Given the description of an element on the screen output the (x, y) to click on. 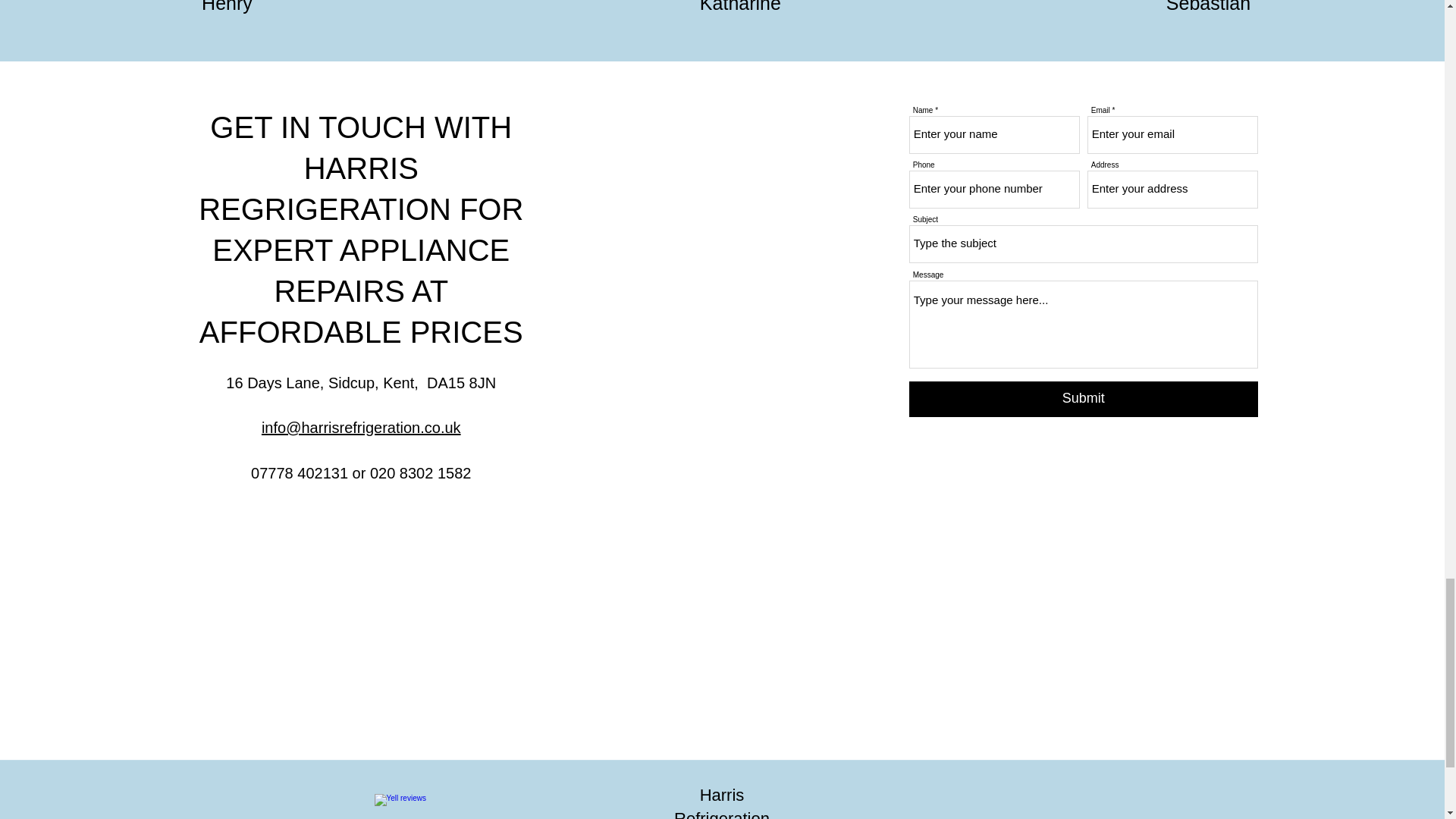
Submit (1082, 398)
Harris Refrigeration (722, 802)
